Given the description of an element on the screen output the (x, y) to click on. 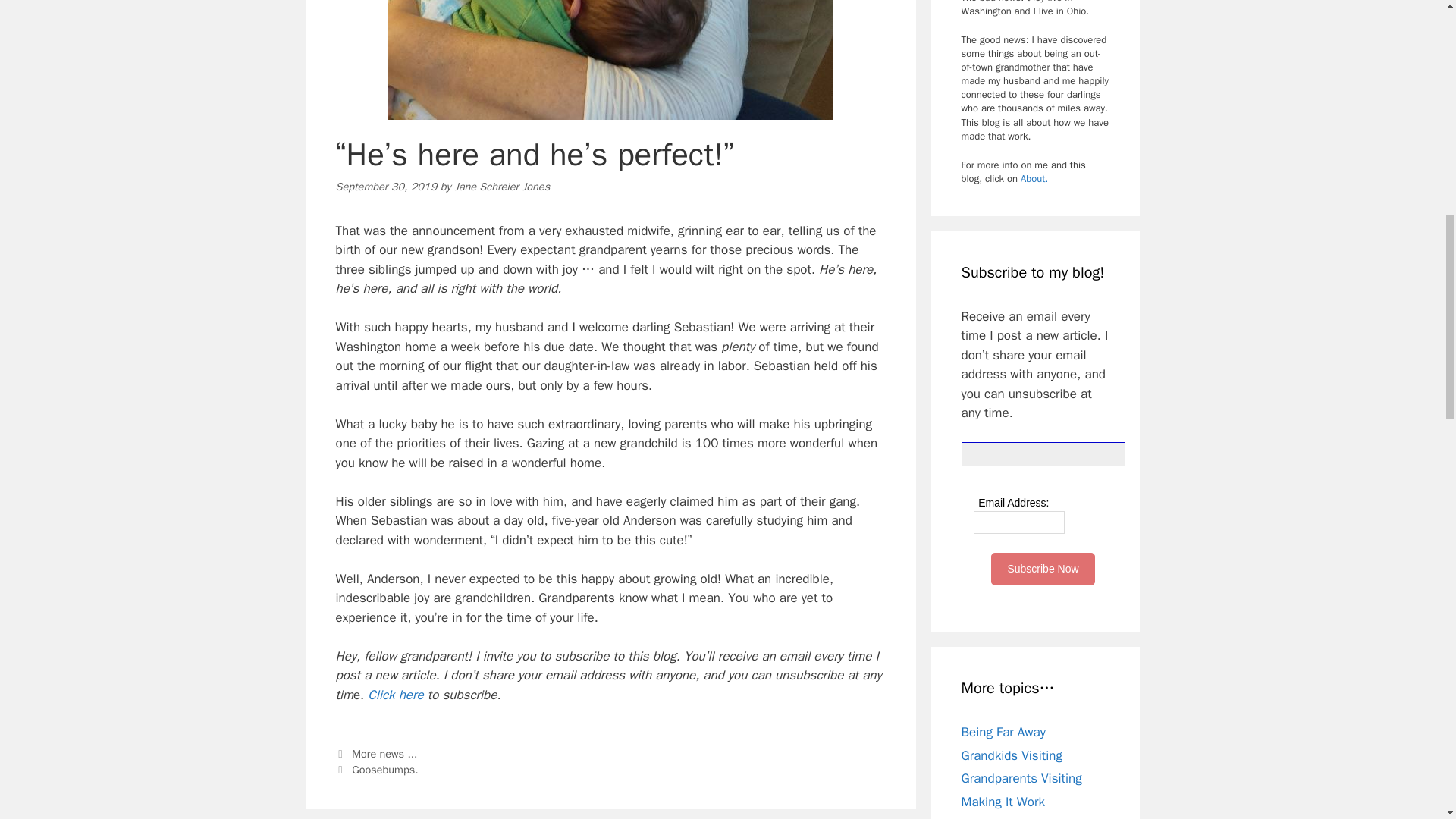
More news ... (384, 753)
About. (1034, 178)
Grandkids Visiting (1011, 755)
Next (375, 769)
Goosebumps. (384, 769)
Being Far Away (1002, 731)
Grandparents Visiting (1020, 778)
Click here (395, 694)
Subscribe Now (1042, 568)
Jane Schreier Jones (502, 186)
View all posts by Jane Schreier Jones (502, 186)
Making It Work (1002, 801)
